Given the description of an element on the screen output the (x, y) to click on. 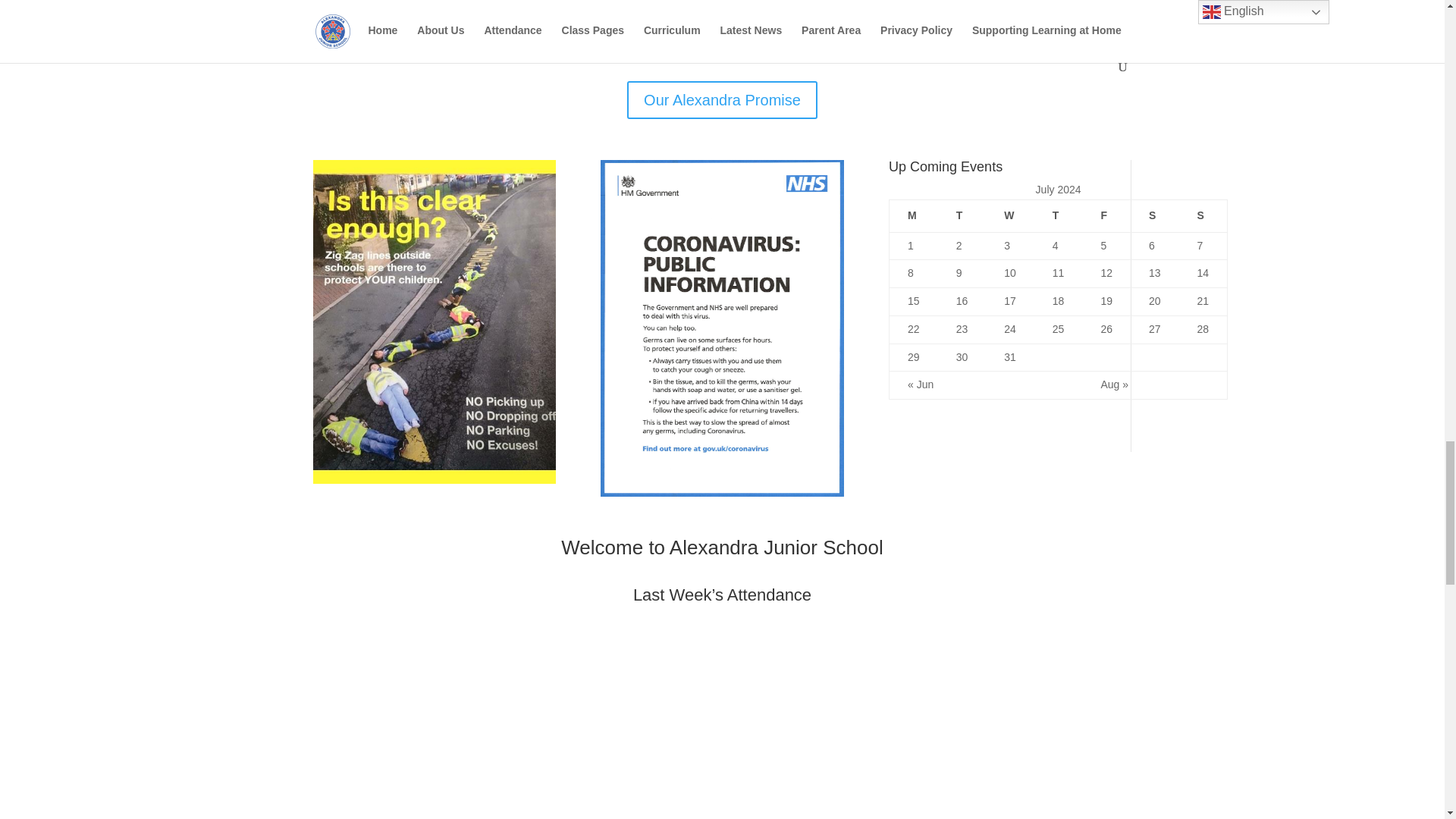
Thursday (1058, 215)
Previous month (920, 384)
Sunday (1203, 215)
Saturday (1155, 215)
Wednesday (1009, 215)
Tuesday (962, 215)
Friday (1106, 215)
Next month (1114, 384)
Monday (913, 215)
